Given the description of an element on the screen output the (x, y) to click on. 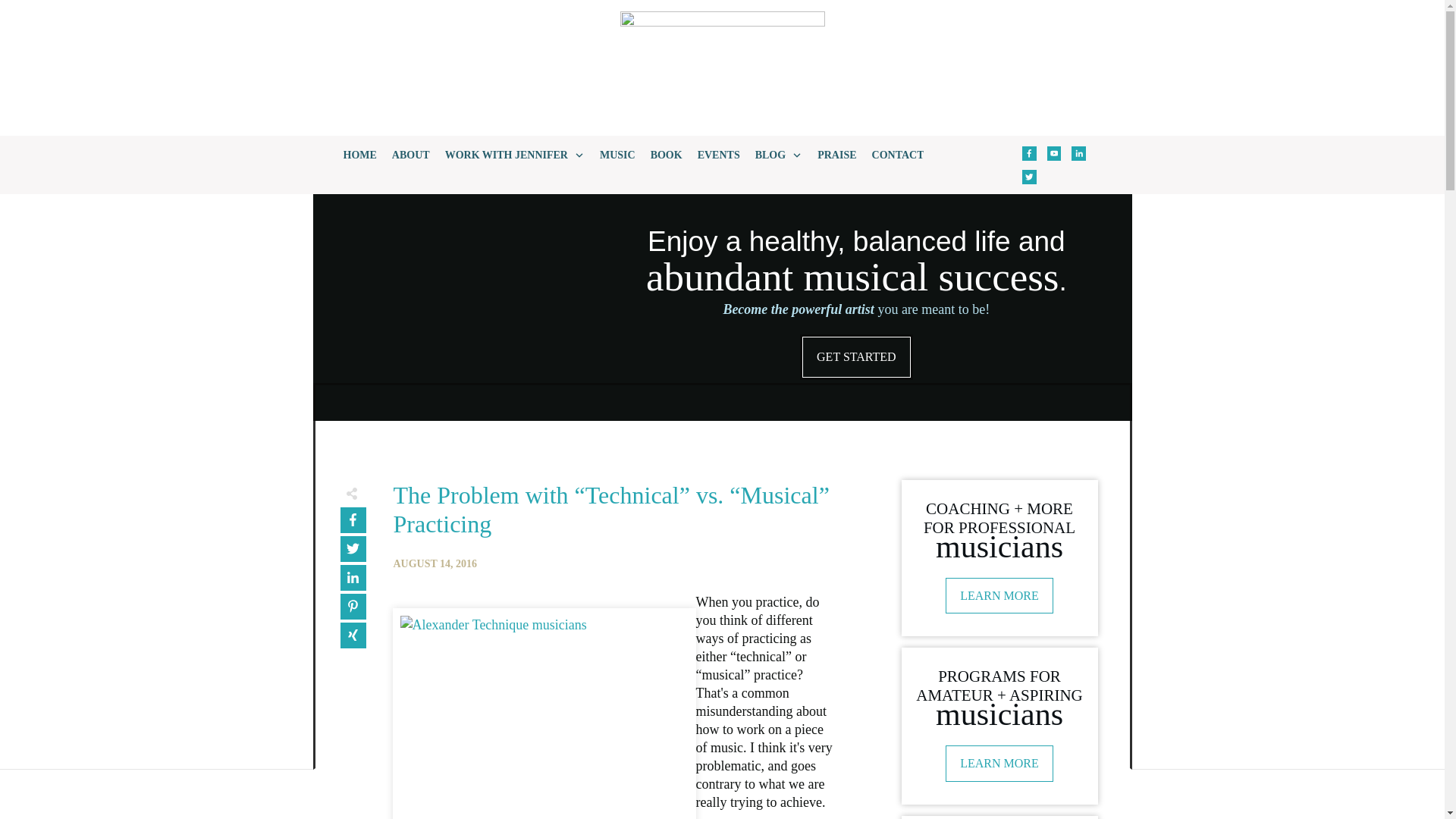
BOOK (666, 155)
MUSIC (616, 155)
PRAISE (836, 155)
GET STARTED (856, 356)
LEARN MORE (998, 596)
WORK WITH JENNIFER (515, 155)
EVENTS (718, 155)
CONTACT (898, 155)
BLOG (778, 155)
HOME (358, 155)
